Given the description of an element on the screen output the (x, y) to click on. 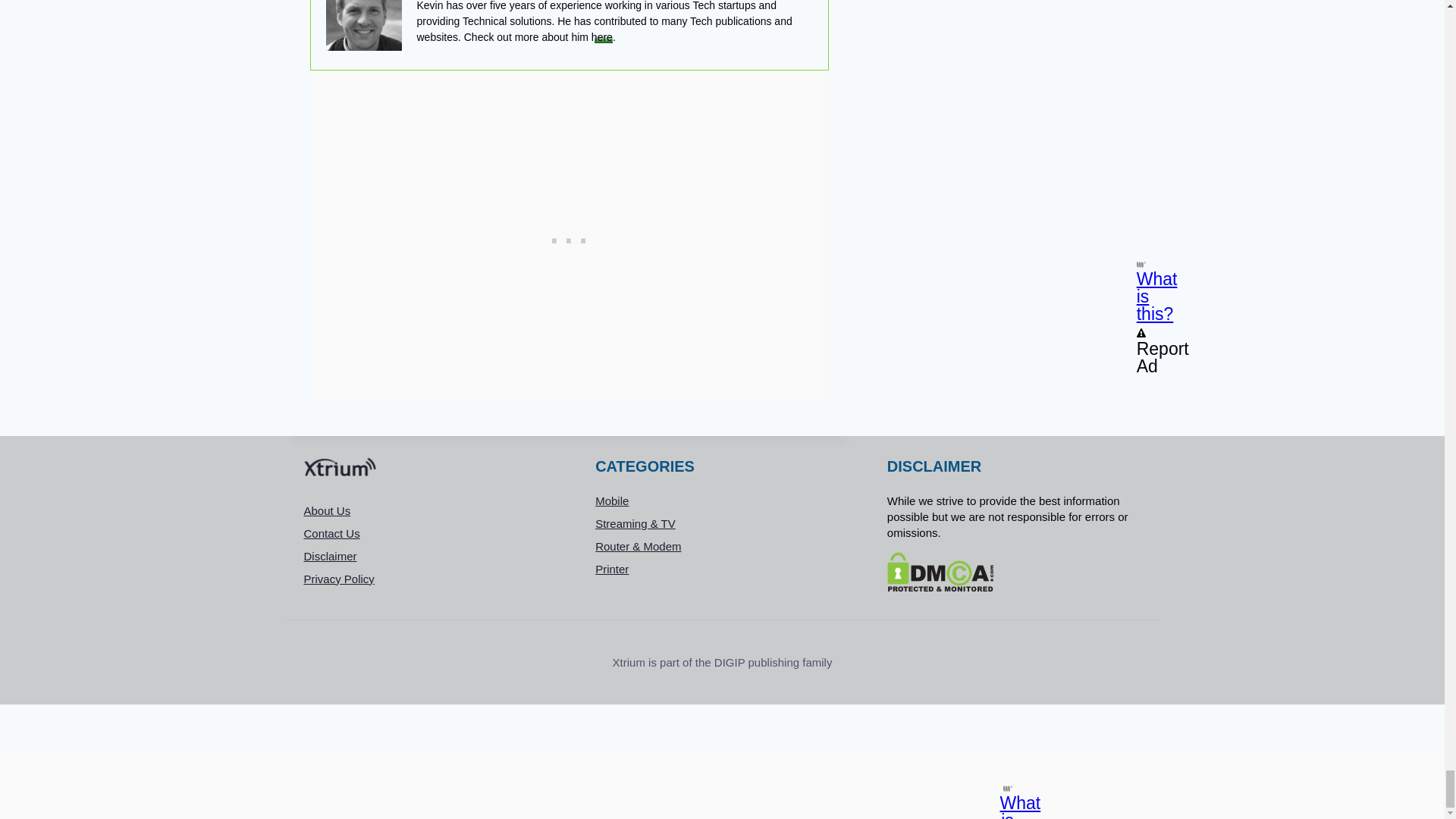
here (601, 37)
Mobile (721, 499)
About Us (429, 509)
Contact Us (429, 532)
Privacy Policy (429, 578)
Disclaimer (429, 555)
Printer (721, 568)
Xfinity Reference Code 3007 - Quick Fix Guide 10 (363, 25)
